Given the description of an element on the screen output the (x, y) to click on. 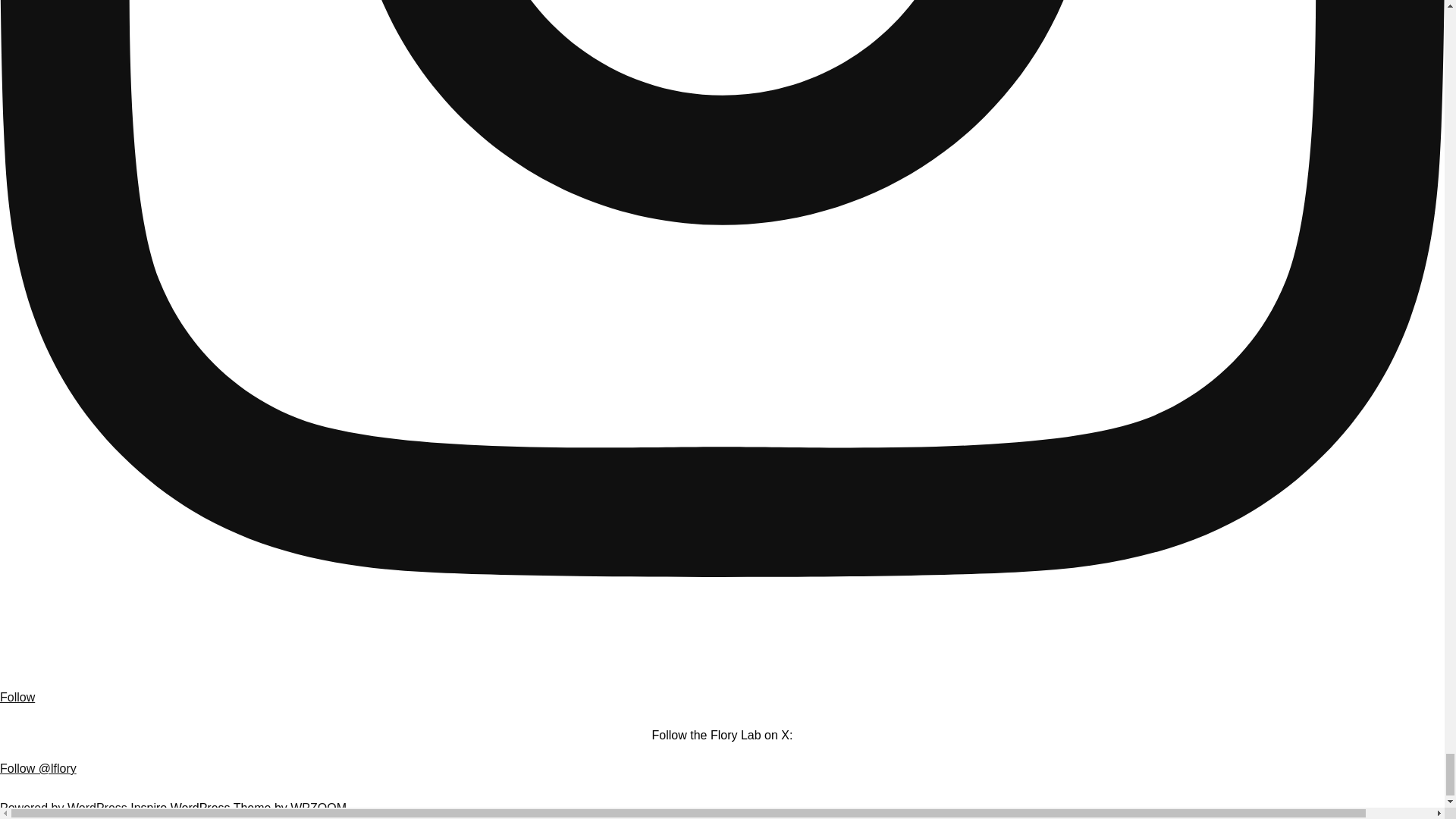
Powered by WordPress (65, 807)
WPZOOM (317, 807)
Follow (722, 686)
